Given the description of an element on the screen output the (x, y) to click on. 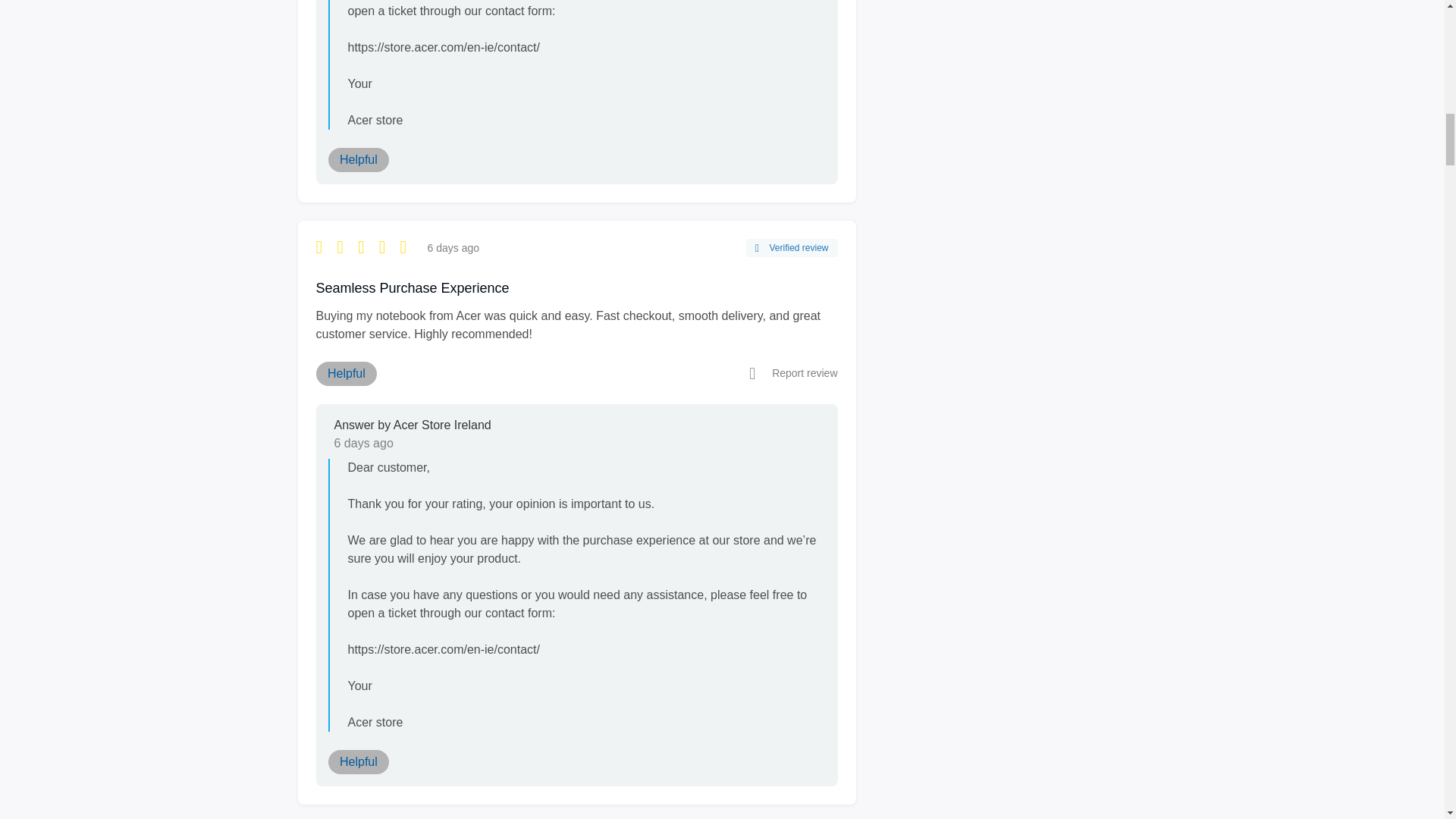
Helpful (346, 373)
Helpful (357, 159)
Helpful (357, 761)
